Given the description of an element on the screen output the (x, y) to click on. 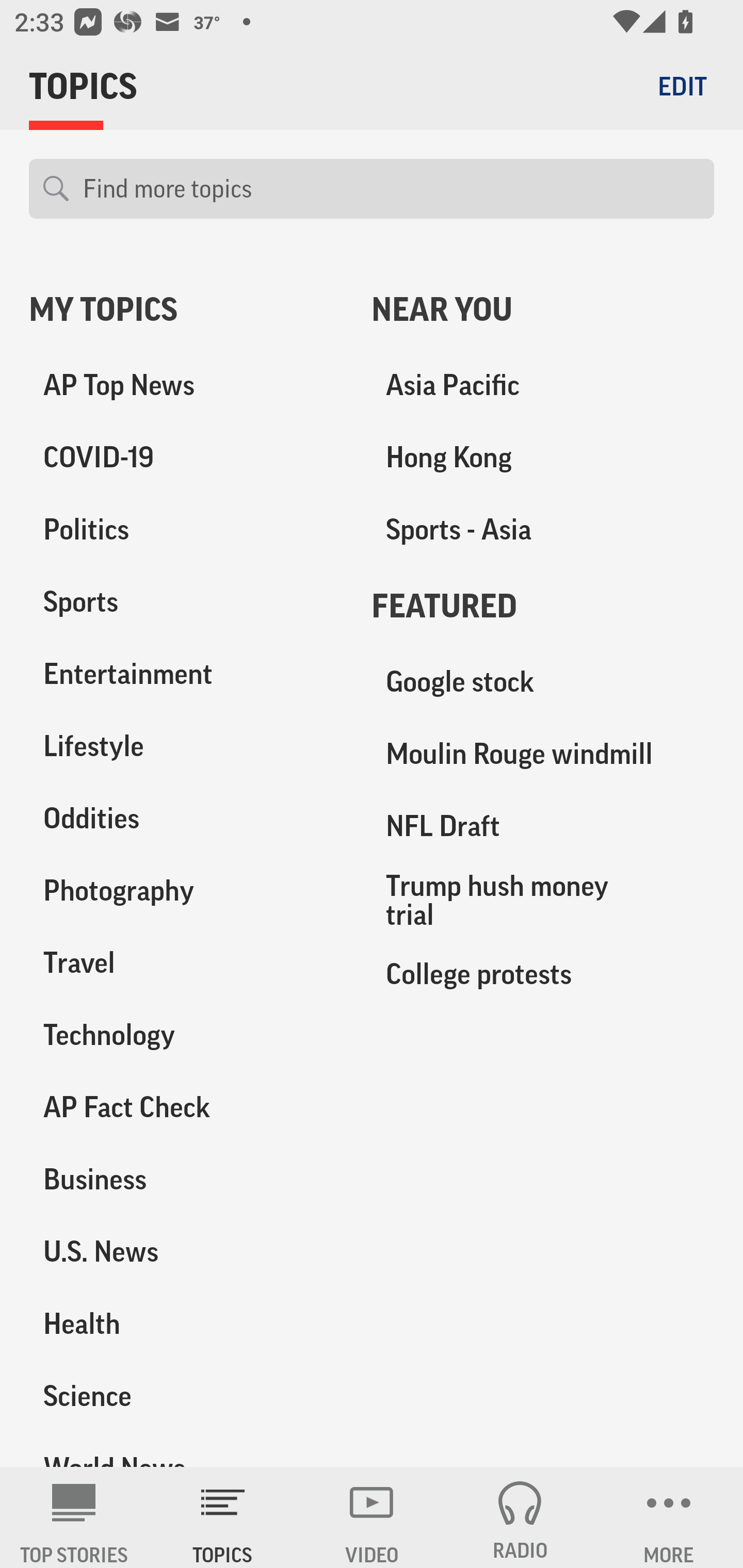
EDIT (682, 86)
Find more topics (391, 188)
AP Top News (185, 385)
Asia Pacific (542, 385)
COVID-19 (185, 457)
Hong Kong (542, 457)
Politics (185, 529)
Sports - Asia (542, 529)
Sports (185, 602)
Entertainment (185, 674)
Google stock (542, 682)
Lifestyle (185, 746)
Moulin Rouge windmill (542, 754)
Oddities (185, 818)
NFL Draft (542, 826)
Photography (185, 890)
Trump hush money trial (542, 899)
Travel (185, 962)
College protests (542, 973)
Technology (185, 1034)
AP Fact Check (185, 1106)
Business (185, 1179)
U.S. News (185, 1251)
Health (185, 1323)
Science (185, 1395)
AP News TOP STORIES (74, 1517)
TOPICS (222, 1517)
VIDEO (371, 1517)
RADIO (519, 1517)
MORE (668, 1517)
